Given the description of an element on the screen output the (x, y) to click on. 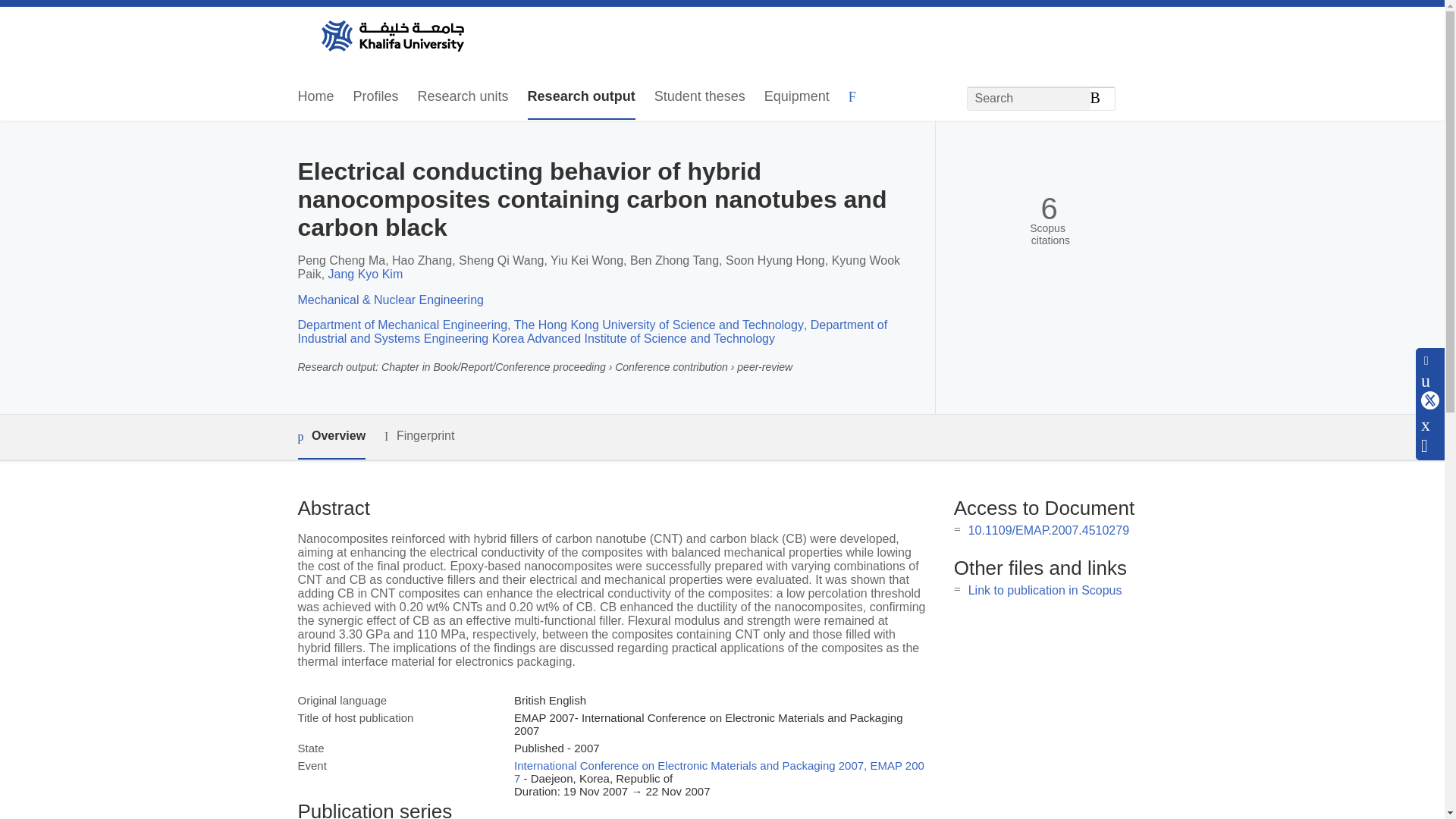
Equipment (796, 97)
Link to publication in Scopus (1045, 590)
Khalifa University Home (391, 37)
Student theses (699, 97)
Department of Mechanical Engineering (401, 324)
Jang Kyo Kim (366, 273)
Research units (462, 97)
The Hong Kong University of Science and Technology (658, 324)
Research output (580, 97)
